Given the description of an element on the screen output the (x, y) to click on. 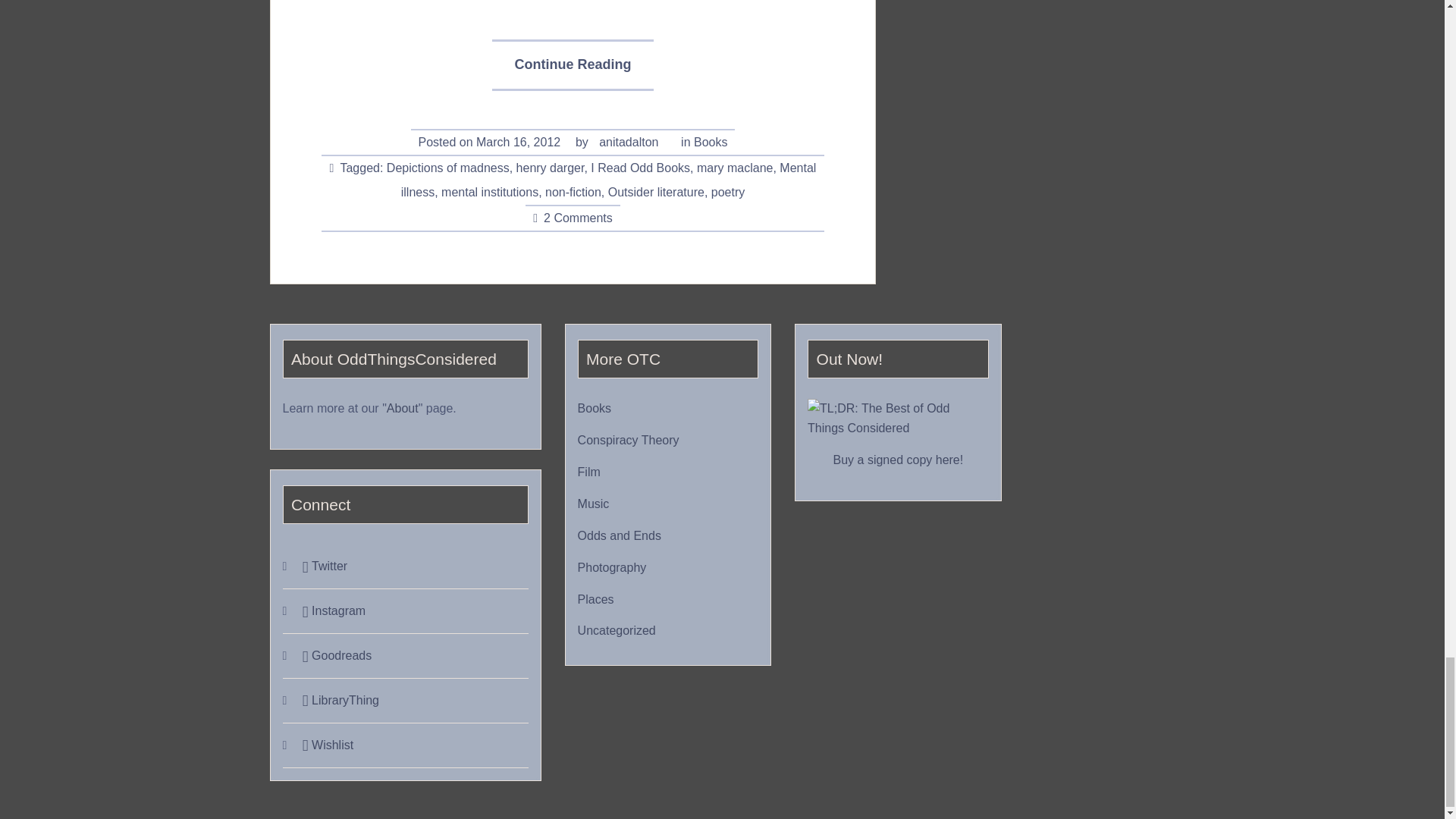
poetry (727, 192)
non-fiction (572, 192)
Mental illness (608, 180)
Depictions of madness (448, 168)
March 16, 2012 (518, 142)
I Read Odd Books (640, 168)
mental institutions (489, 192)
henry darger (550, 168)
Books (710, 142)
Outsider literature (656, 192)
2 Comments (577, 218)
mary maclane (735, 168)
anitadalton (628, 142)
